Given the description of an element on the screen output the (x, y) to click on. 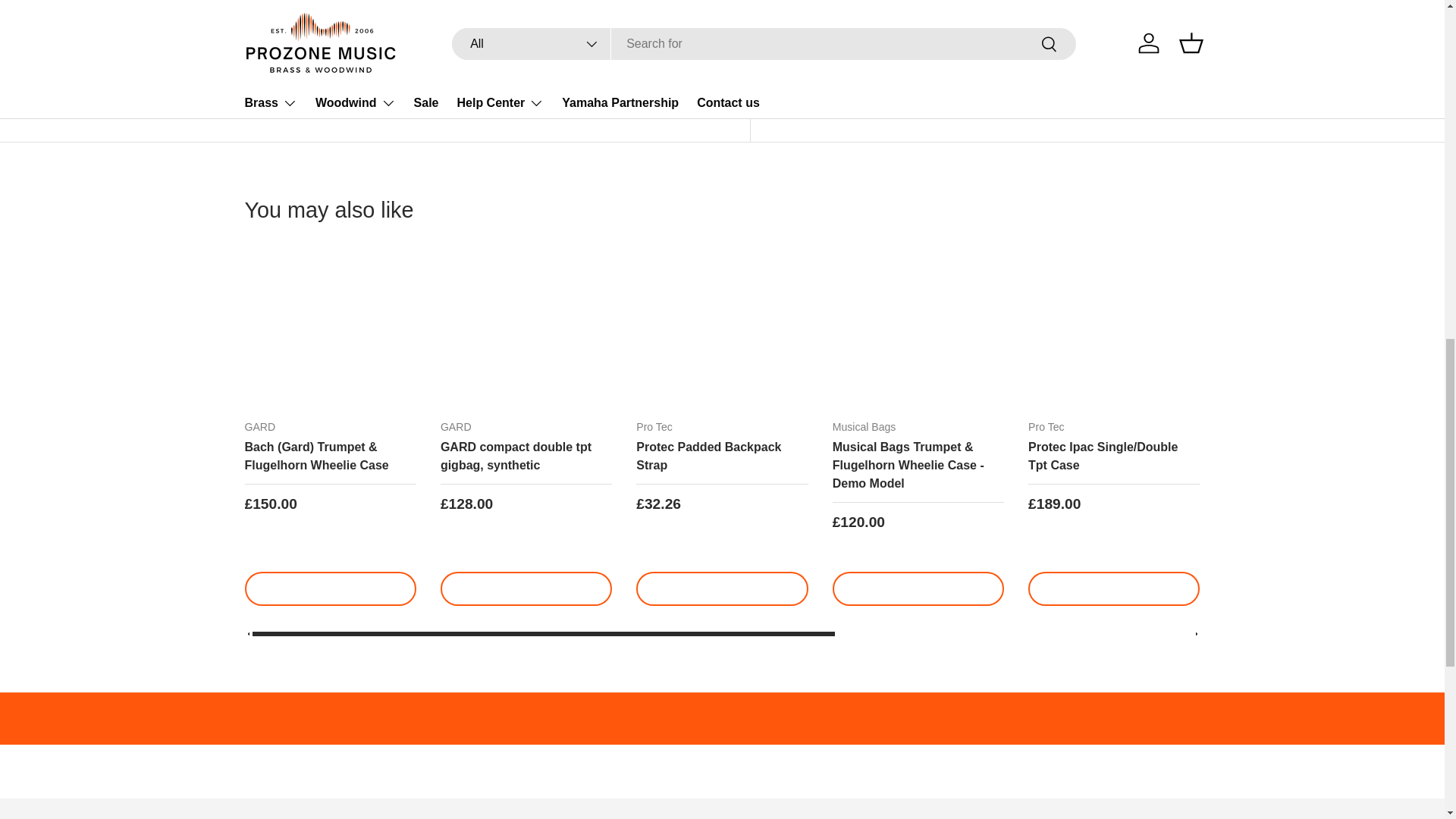
Black (1431, 544)
